Given the description of an element on the screen output the (x, y) to click on. 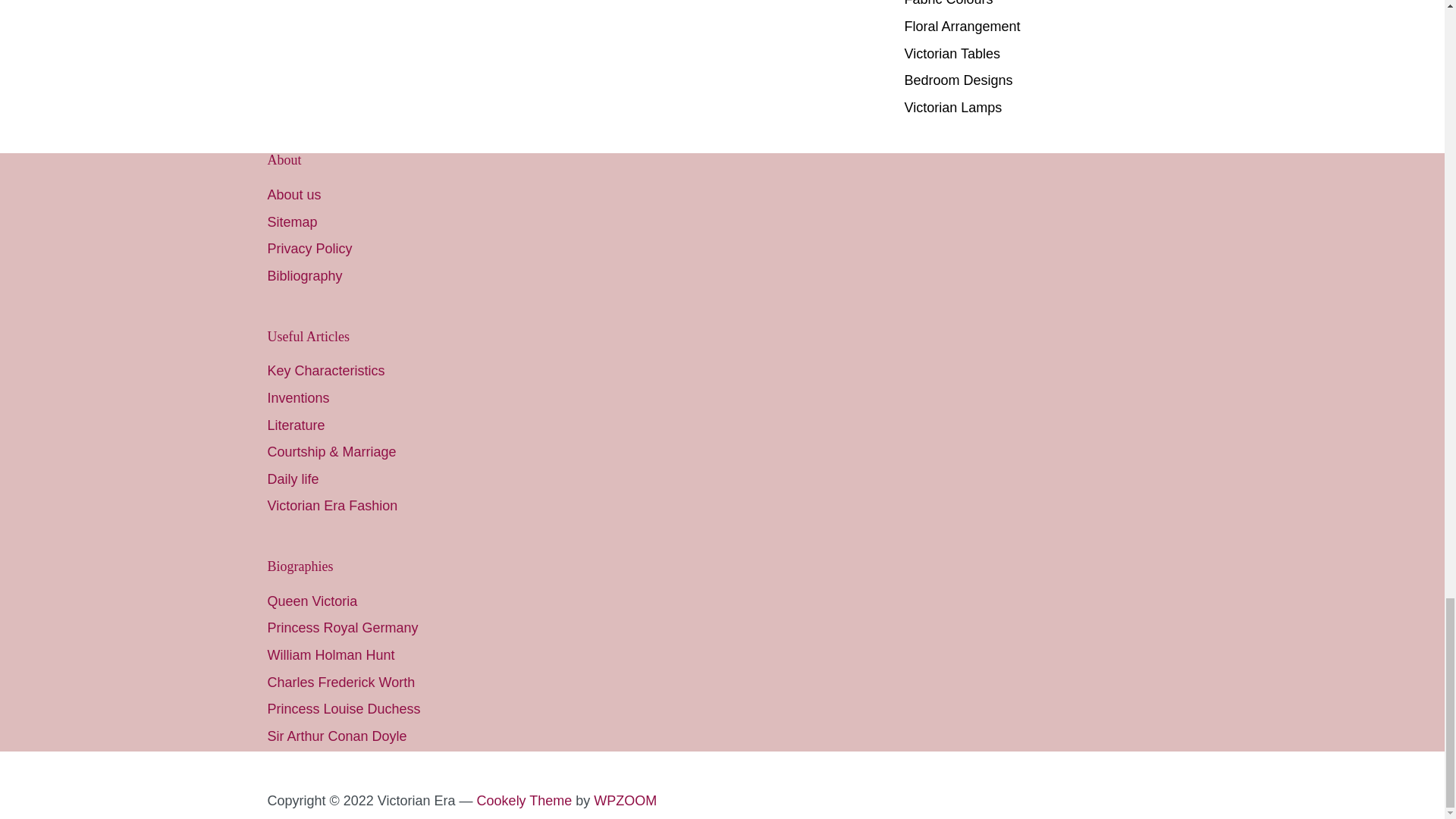
Victorian Tables (951, 53)
Key Characteristics (325, 370)
Victorian Lamps (952, 107)
Sitemap (291, 222)
About us (293, 194)
Bedroom Designs (957, 79)
Bibliography (304, 275)
Privacy Policy (309, 248)
Fabric Colours (948, 3)
Floral Arrangement (962, 26)
